Given the description of an element on the screen output the (x, y) to click on. 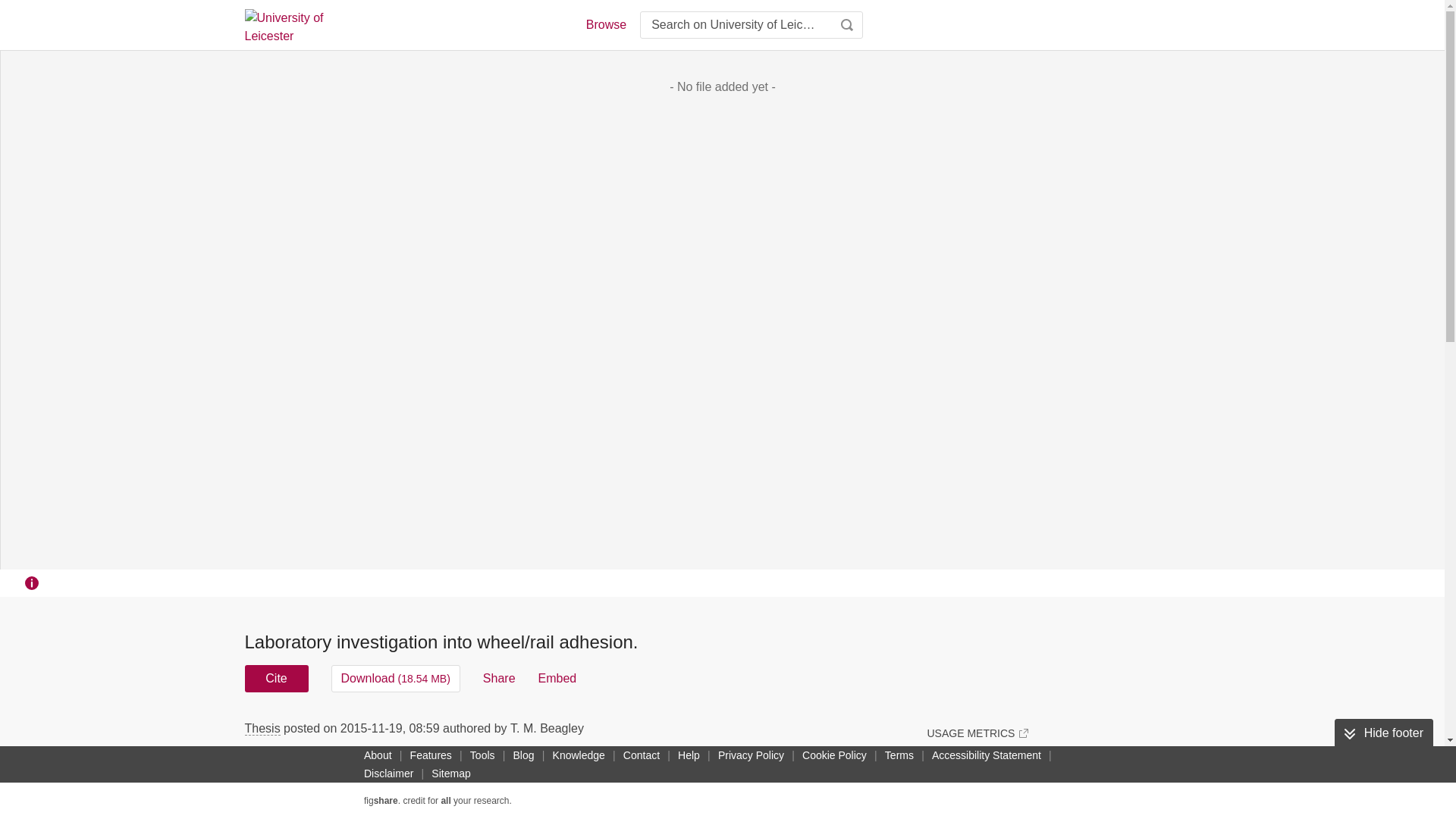
Cookie Policy (833, 755)
Terms (899, 755)
Disclaimer (388, 773)
Hide footer (1383, 733)
Share (499, 678)
Accessibility Statement (986, 755)
Cite (275, 678)
Help (688, 755)
Blog (523, 755)
USAGE METRICS (976, 732)
Sitemap (450, 773)
Tools (482, 755)
Contact (640, 755)
Privacy Policy (751, 755)
Embed (557, 678)
